Given the description of an element on the screen output the (x, y) to click on. 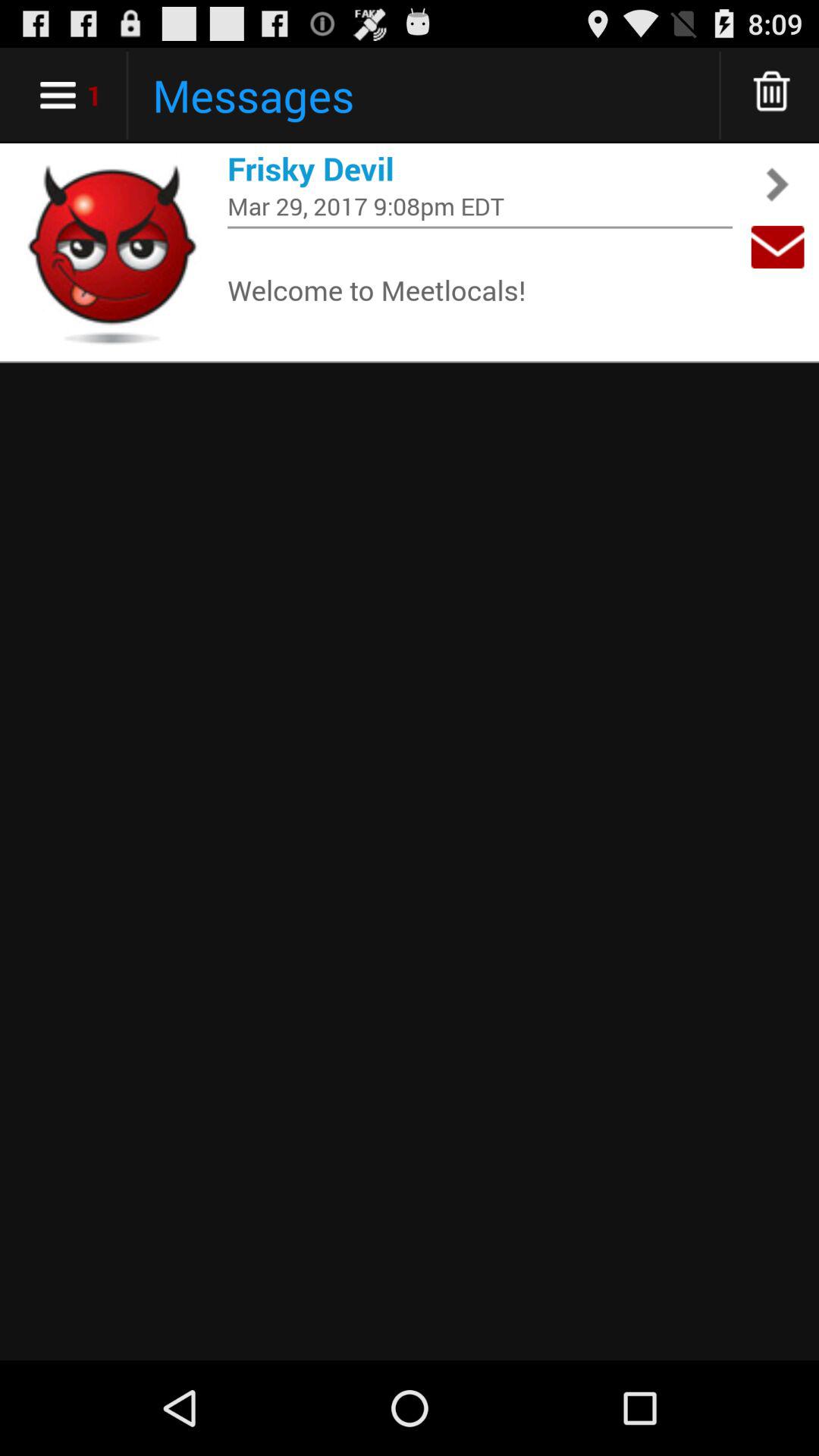
select the app below the messages icon (479, 168)
